Given the description of an element on the screen output the (x, y) to click on. 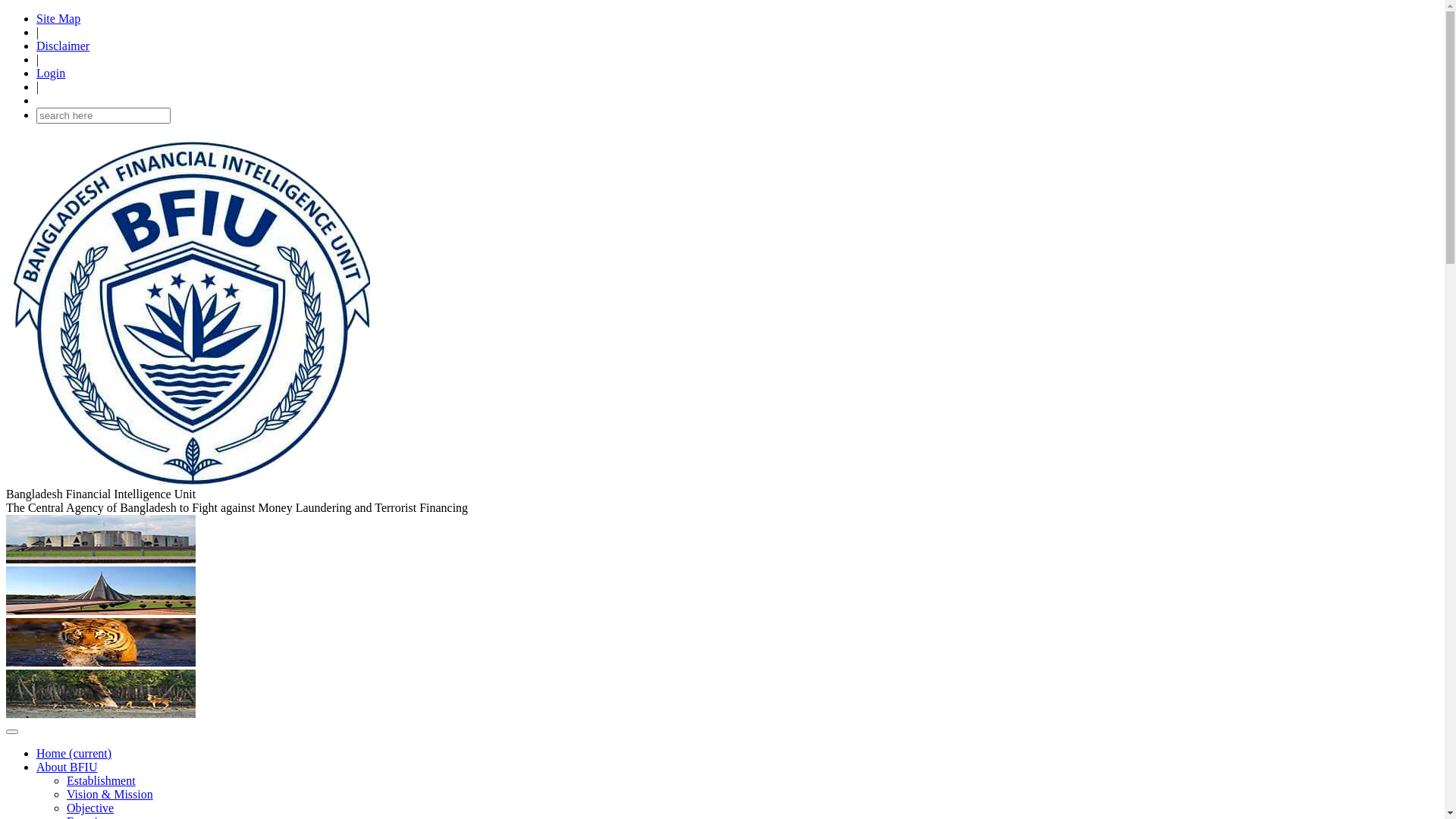
About BFIU Element type: text (66, 766)
Objective Element type: text (89, 807)
Home (current) Element type: text (73, 752)
Site Map Element type: text (58, 18)
Disclaimer Element type: text (62, 45)
Vision & Mission Element type: text (109, 793)
Login Element type: text (50, 72)
Establishment Element type: text (100, 780)
